Given the description of an element on the screen output the (x, y) to click on. 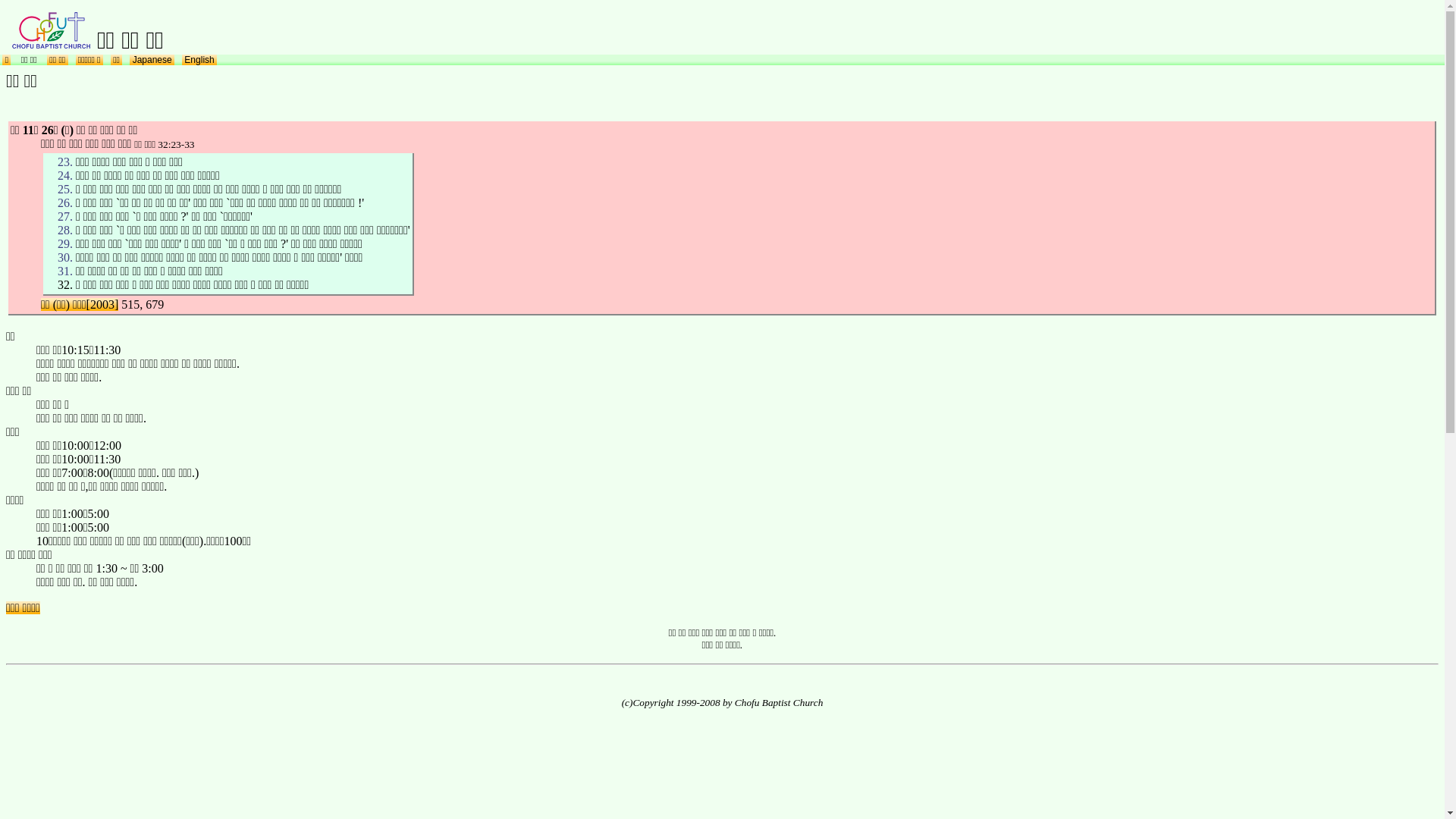
 Japanese  Element type: text (151, 59)
 English  Element type: text (199, 59)
Top Element type: hover (51, 39)
